Given the description of an element on the screen output the (x, y) to click on. 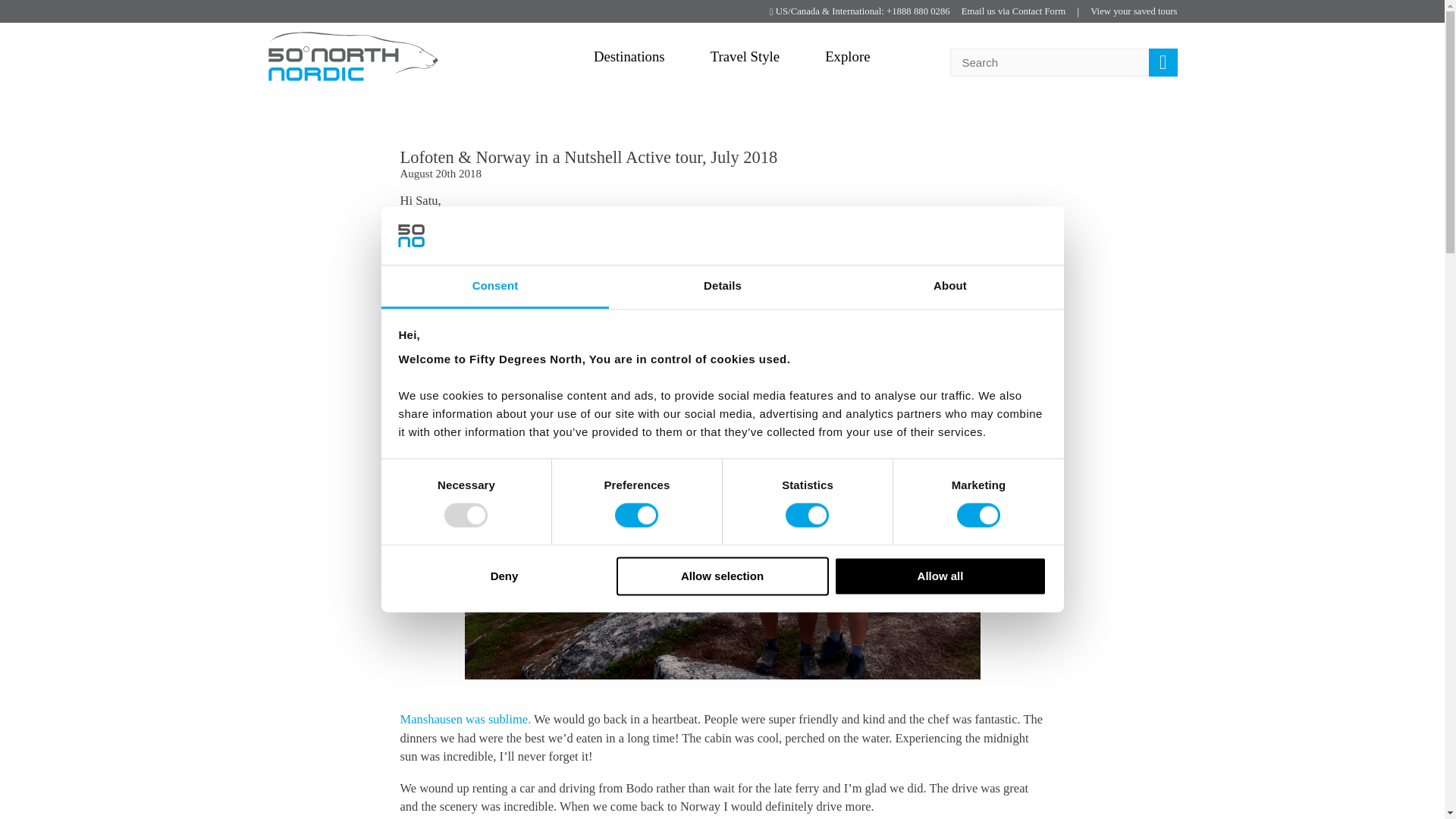
Consent (494, 286)
About (948, 286)
Details (721, 286)
